Given the description of an element on the screen output the (x, y) to click on. 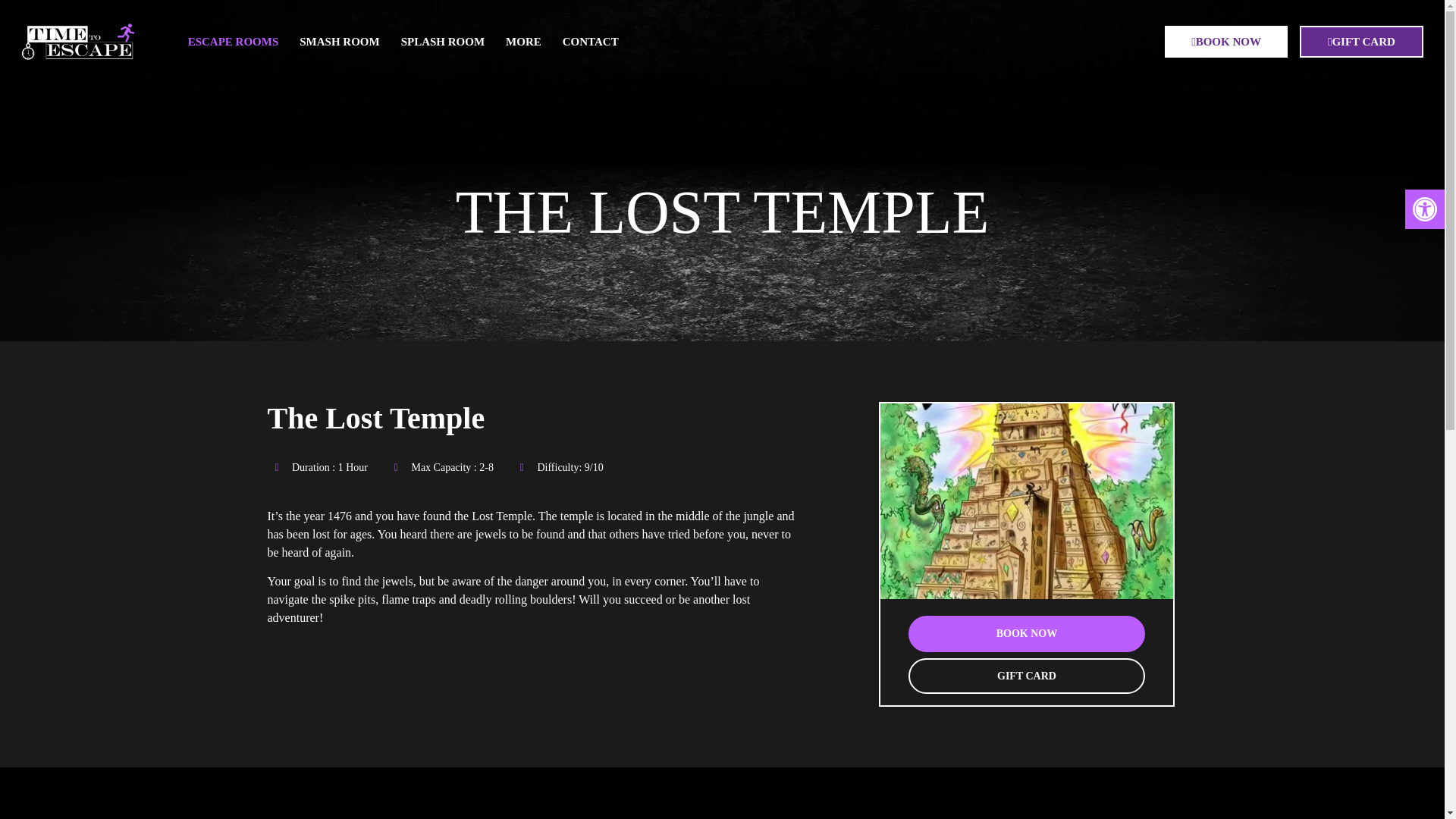
ESCAPE ROOMS (233, 41)
MORE (523, 41)
GIFT CARD (1361, 41)
SPLASH ROOM (442, 41)
GIFT CARD (1026, 676)
BOOK NOW (1225, 41)
Accessibility Tools (1424, 209)
SMASH ROOM (339, 41)
BOOK NOW (1026, 633)
CONTACT (589, 41)
